Given the description of an element on the screen output the (x, y) to click on. 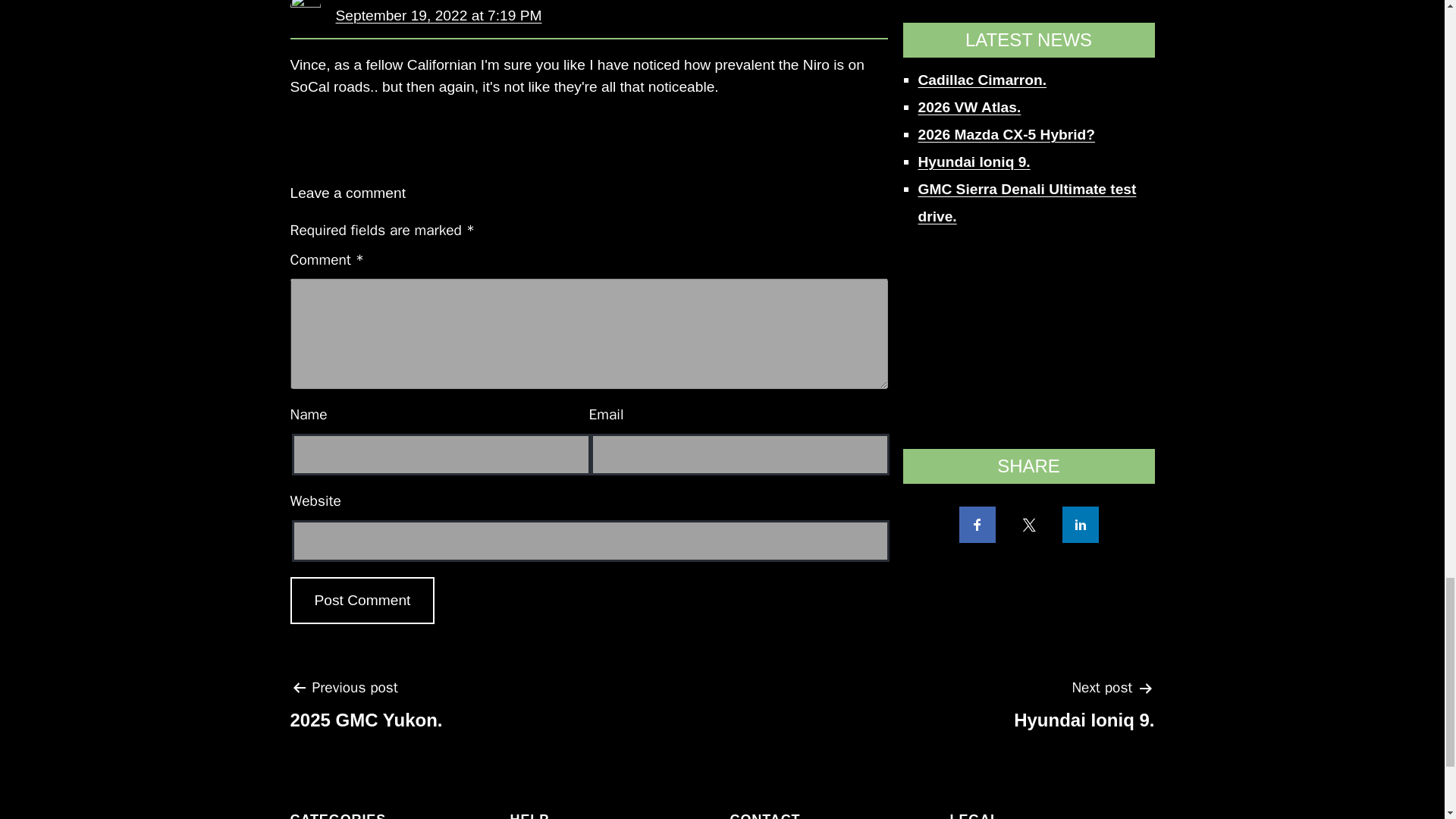
September 19, 2022 at 7:19 PM (365, 709)
Post Comment (1083, 709)
Post Comment (437, 15)
